Given the description of an element on the screen output the (x, y) to click on. 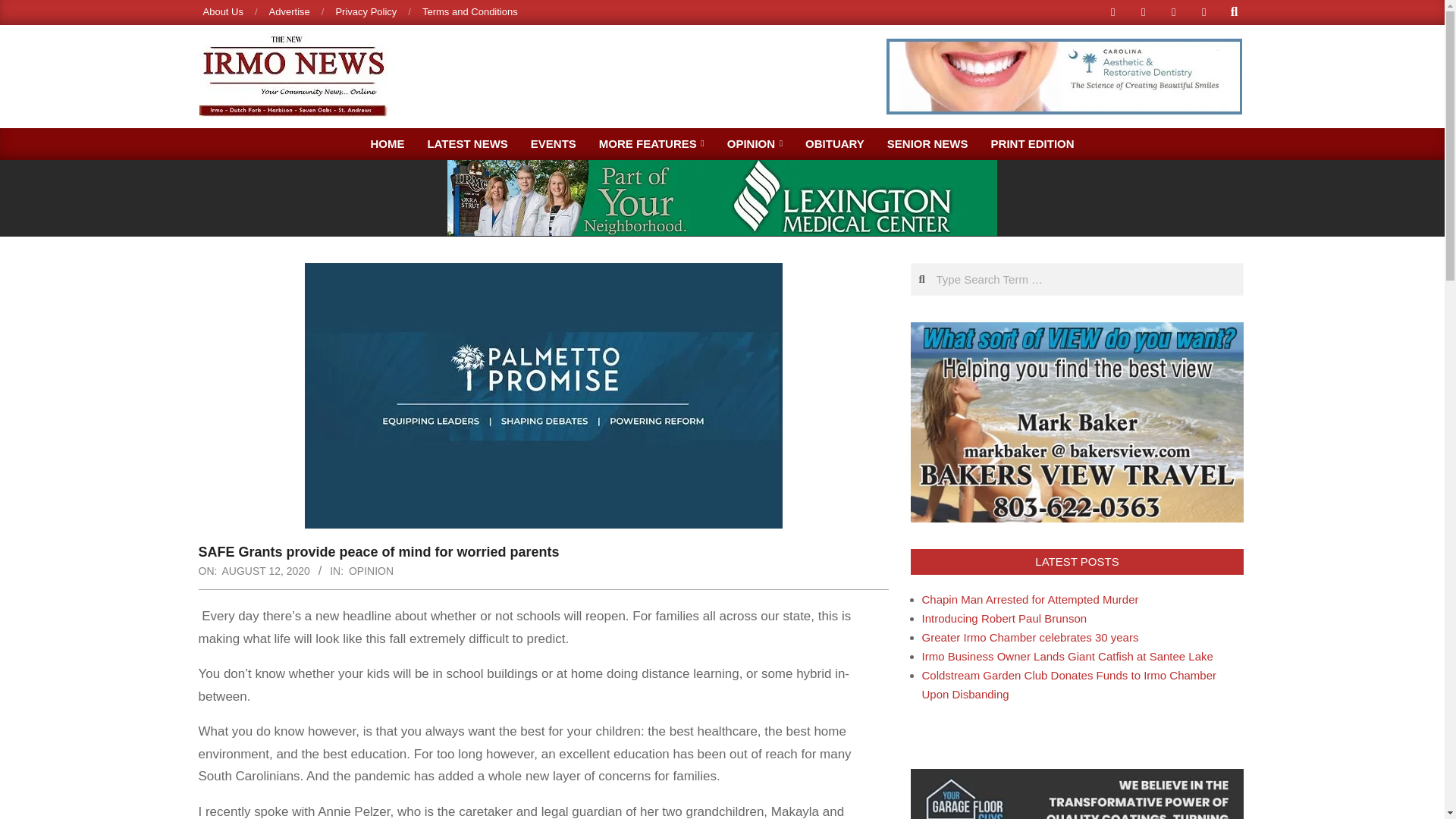
OPINION (371, 570)
PRINT EDITION (1032, 143)
OPINION (754, 143)
Wednesday, August 12, 2020, 9:03 pm (264, 570)
About Us (223, 11)
Advertise (289, 11)
Search (24, 9)
OBITUARY (834, 143)
Privacy Policy (365, 11)
HOME (386, 143)
